Given the description of an element on the screen output the (x, y) to click on. 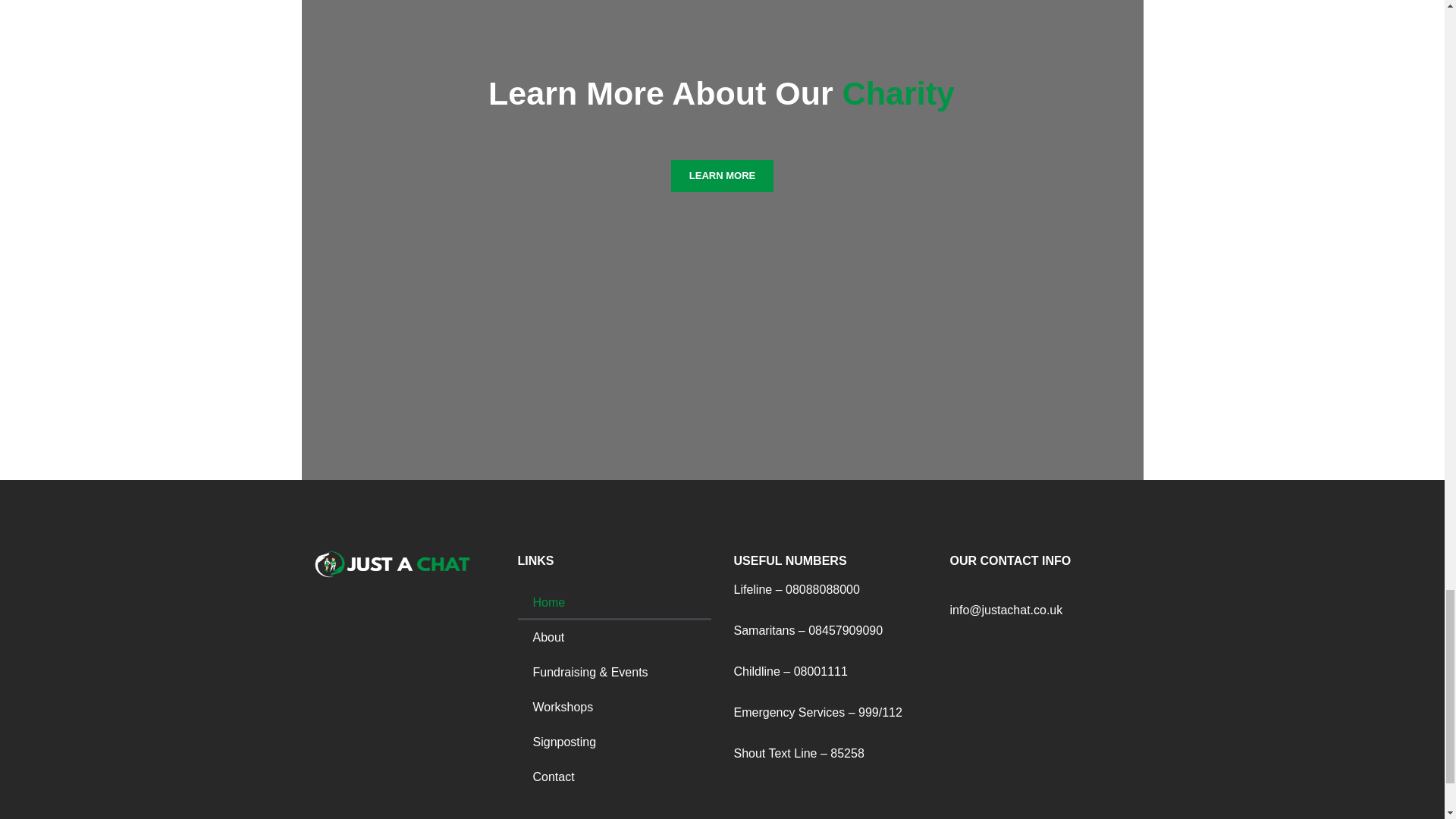
About (613, 637)
Workshops (613, 707)
Contact (613, 777)
Home (613, 602)
LEARN MORE (722, 175)
Signposting (613, 742)
